Given the description of an element on the screen output the (x, y) to click on. 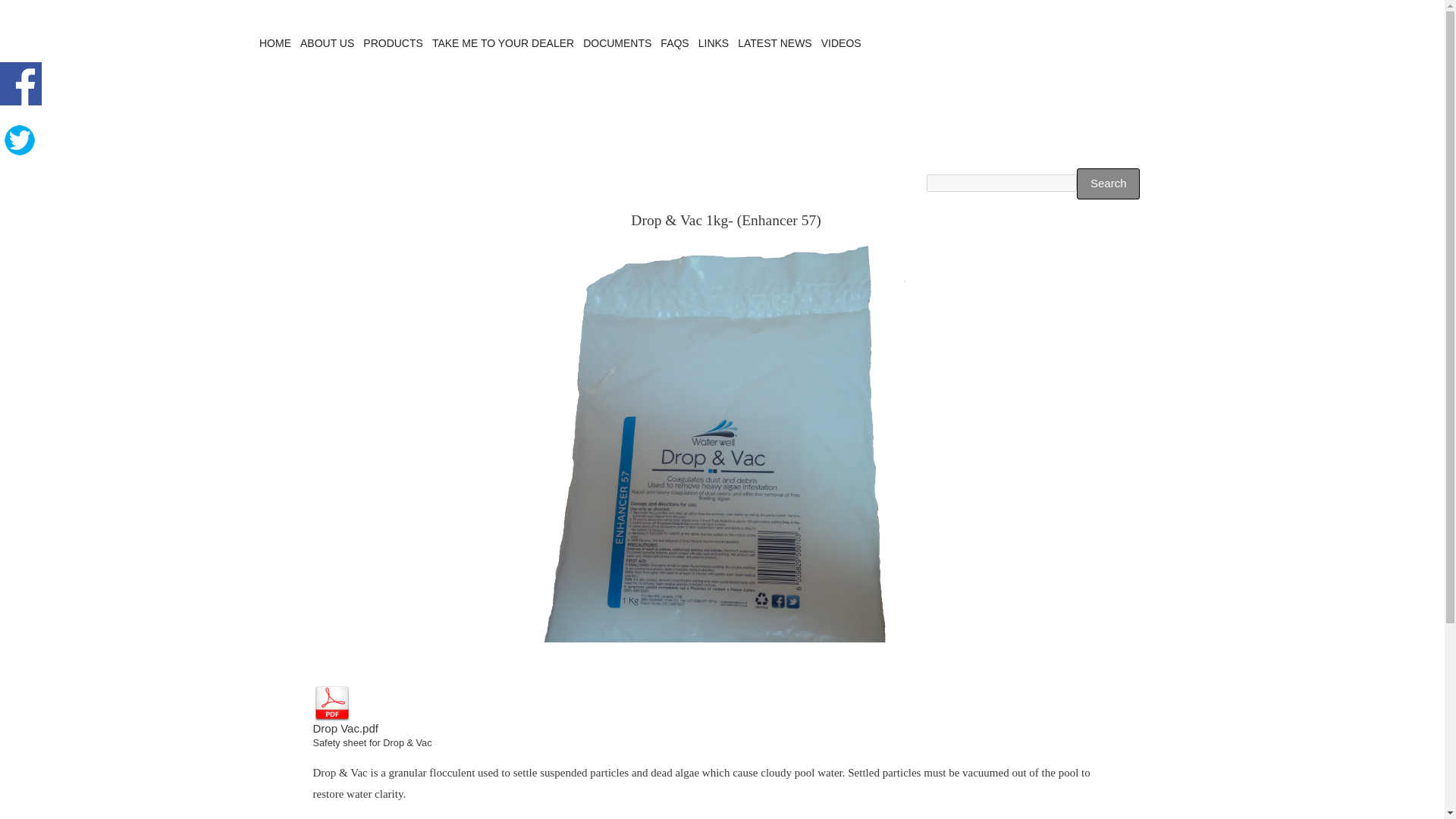
VIDEOS (841, 43)
DOCUMENTS (616, 43)
CONTACT US (904, 43)
PRODUCTS (392, 43)
Search (1108, 183)
TAKE ME TO YOUR DEALER (502, 43)
Search (1108, 183)
ABOUT US (326, 43)
Drop Vac.pdf (345, 714)
LATEST NEWS (775, 43)
